Given the description of an element on the screen output the (x, y) to click on. 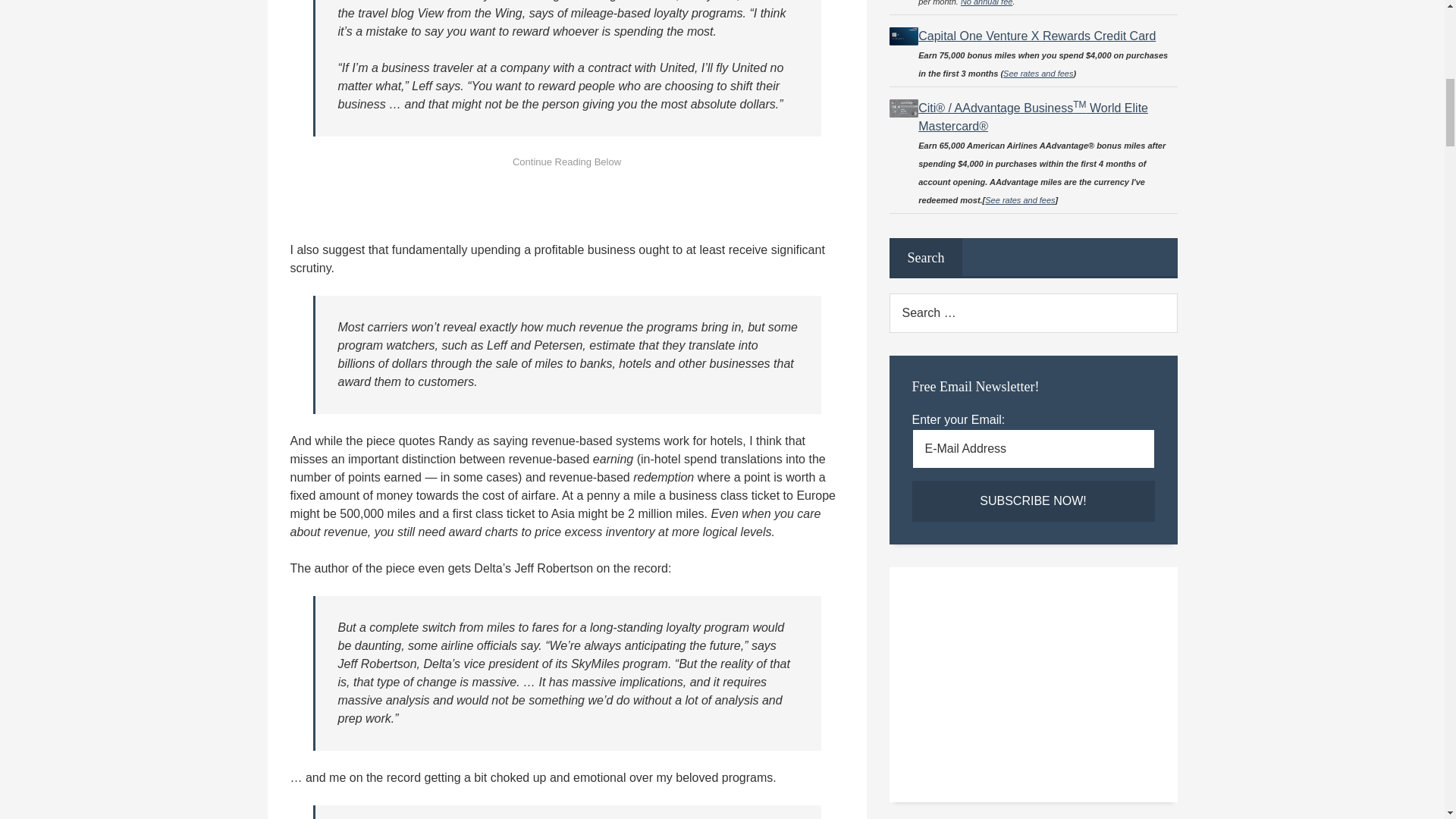
E-Mail Address (1032, 448)
Subscribe Now! (1032, 500)
